Given the description of an element on the screen output the (x, y) to click on. 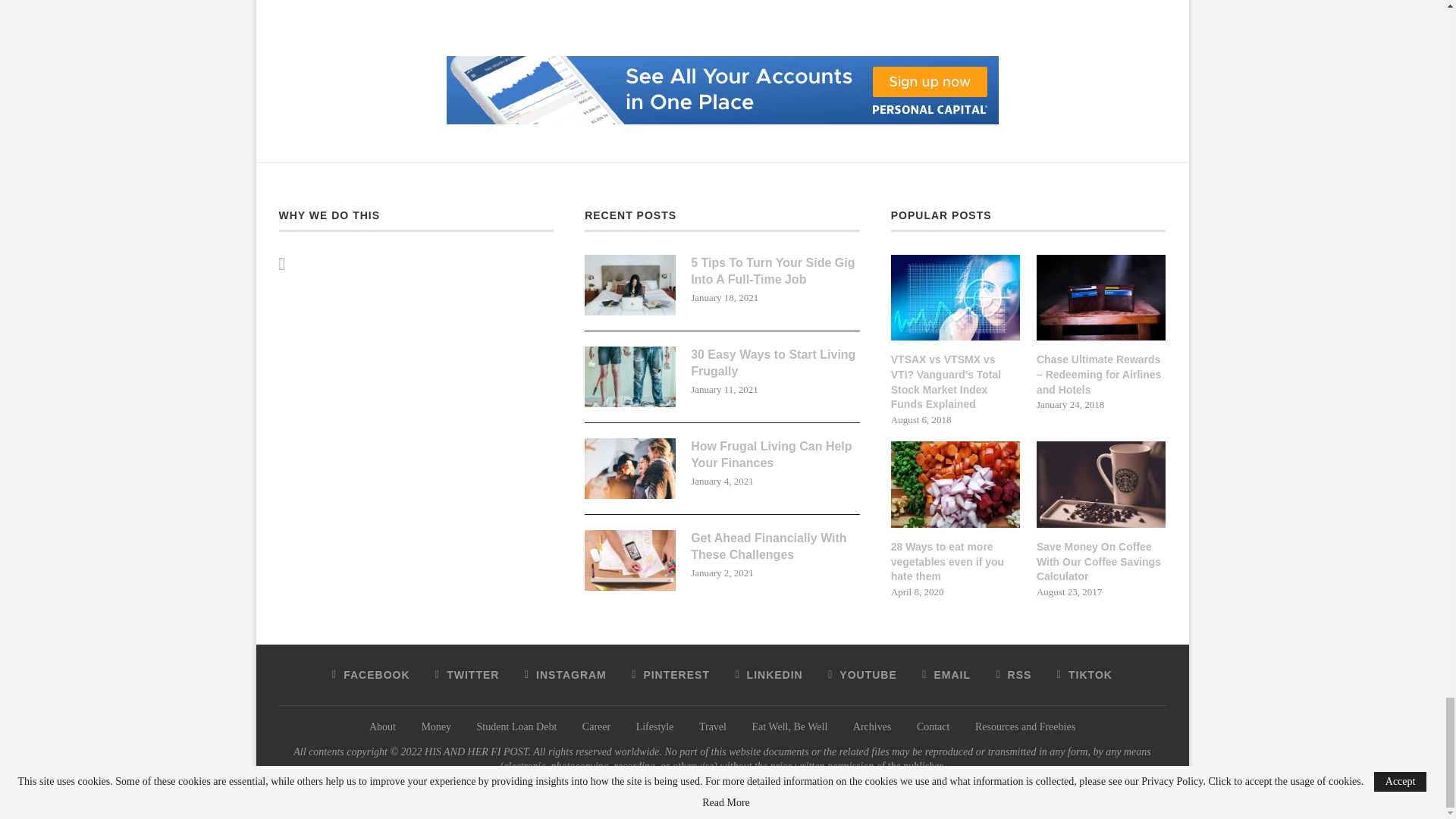
Get Ahead Financially With These Challenges (775, 546)
Get Ahead Financially With These Challenges (630, 559)
GDN Remarketing June 2018 - Interested (721, 60)
30 Easy Ways to Start Living Frugally (630, 376)
28 Ways to eat more vegetables even if you hate them (955, 561)
5 Tips To Turn Your Side Gig Into A Full-Time Job (775, 271)
How Frugal Living Can Help Your Finances (630, 468)
How Frugal Living Can Help Your Finances (775, 455)
5 Tips To Turn Your Side Gig Into A Full-Time Job (630, 284)
28 Ways to eat more vegetables even if you hate them (955, 484)
